Given the description of an element on the screen output the (x, y) to click on. 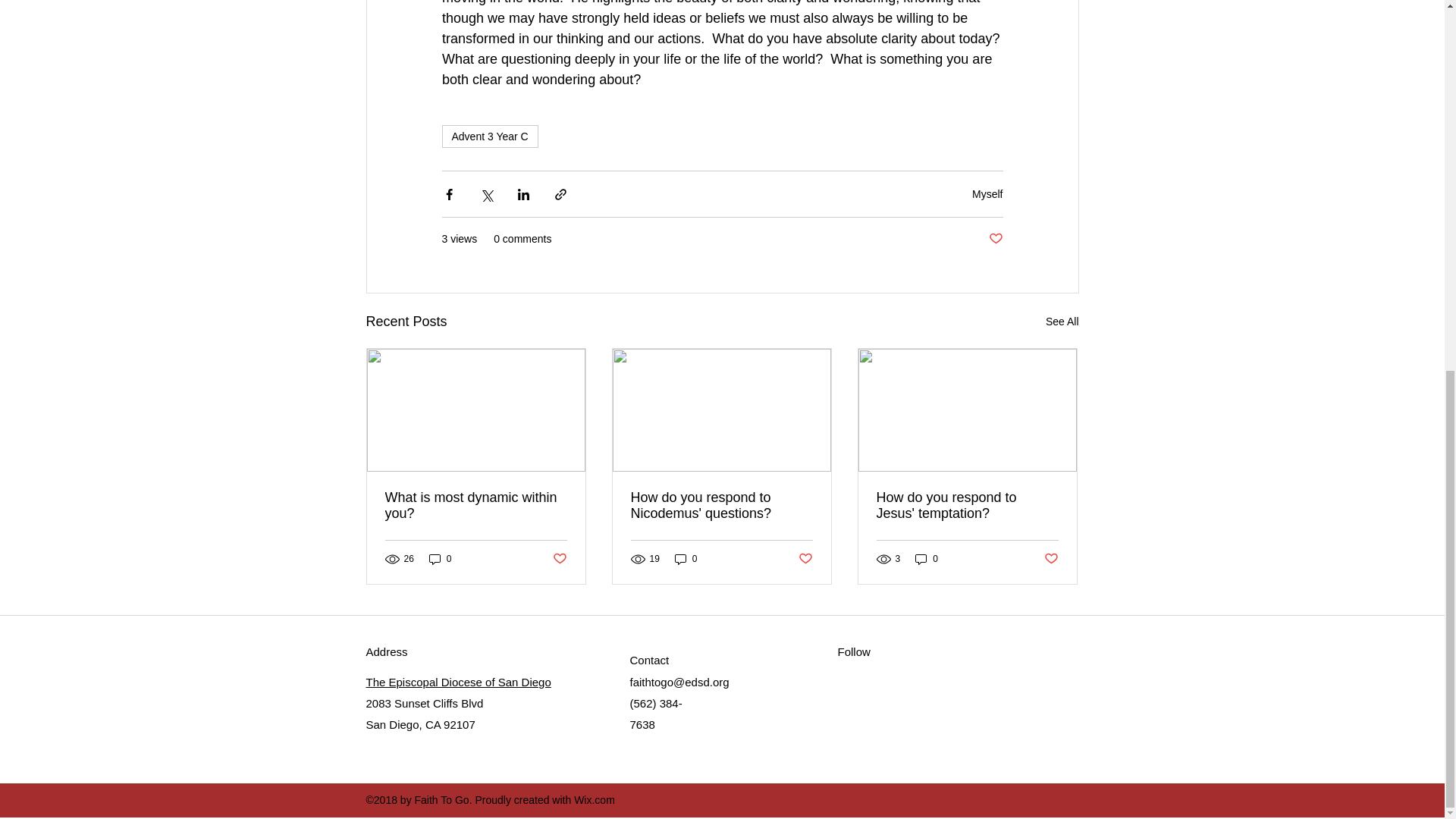
The Episcopal Diocese of San Diego (457, 681)
What is most dynamic within you? (476, 505)
Post not marked as liked (558, 558)
Post not marked as liked (804, 558)
Advent 3 Year C (489, 136)
0 (926, 559)
0 (685, 559)
How do you respond to Nicodemus' questions? (721, 505)
Post not marked as liked (1050, 558)
0 (440, 559)
Post not marked as liked (995, 238)
See All (1061, 321)
How do you respond to Jesus' temptation? (967, 505)
Myself (987, 193)
